Given the description of an element on the screen output the (x, y) to click on. 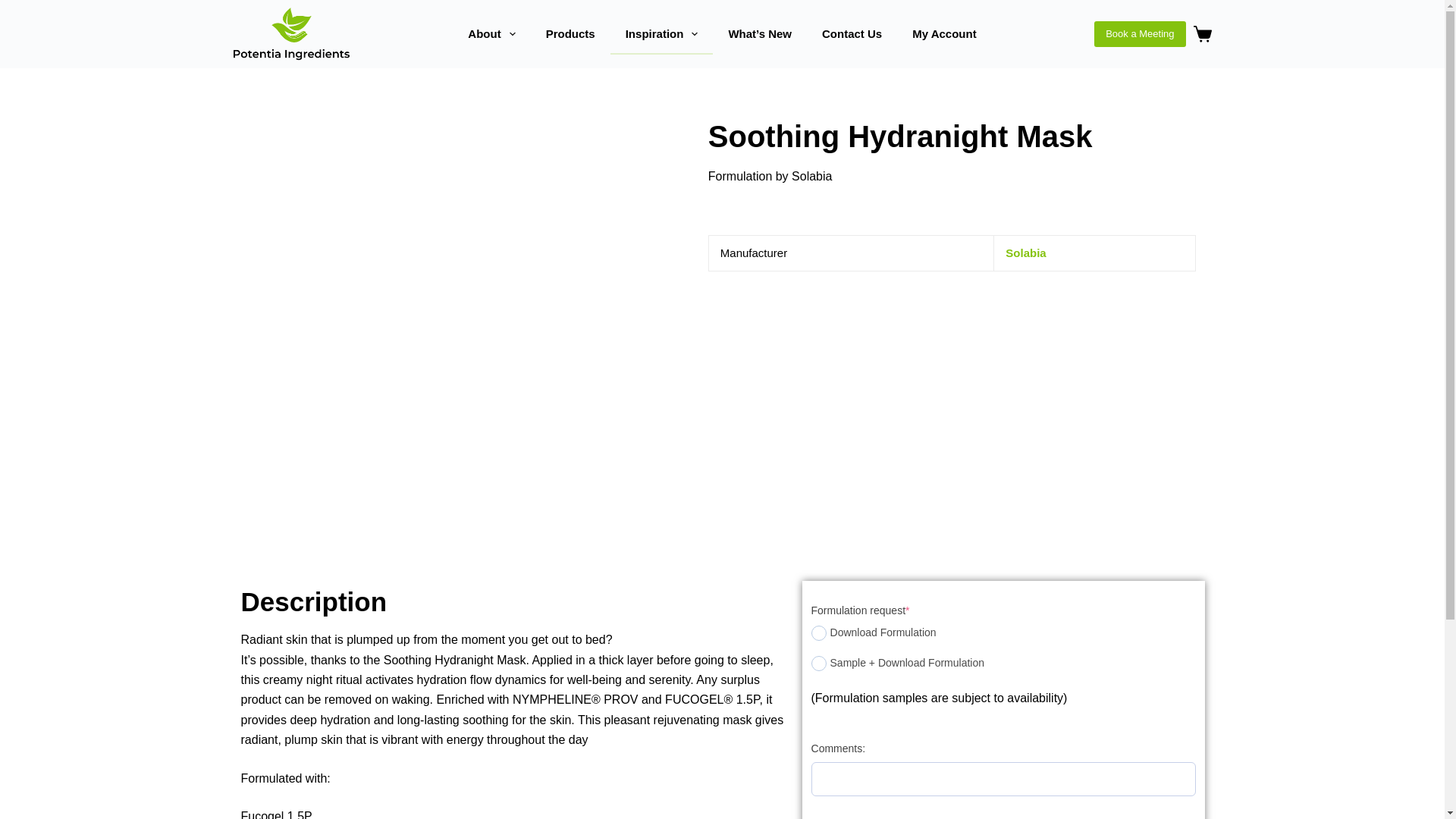
Solabia (1025, 252)
About (490, 33)
Skip to content (15, 7)
Book a Meeting (1139, 33)
My Account (943, 33)
Inspiration (661, 33)
Products (570, 33)
Contact Us (851, 33)
